Given the description of an element on the screen output the (x, y) to click on. 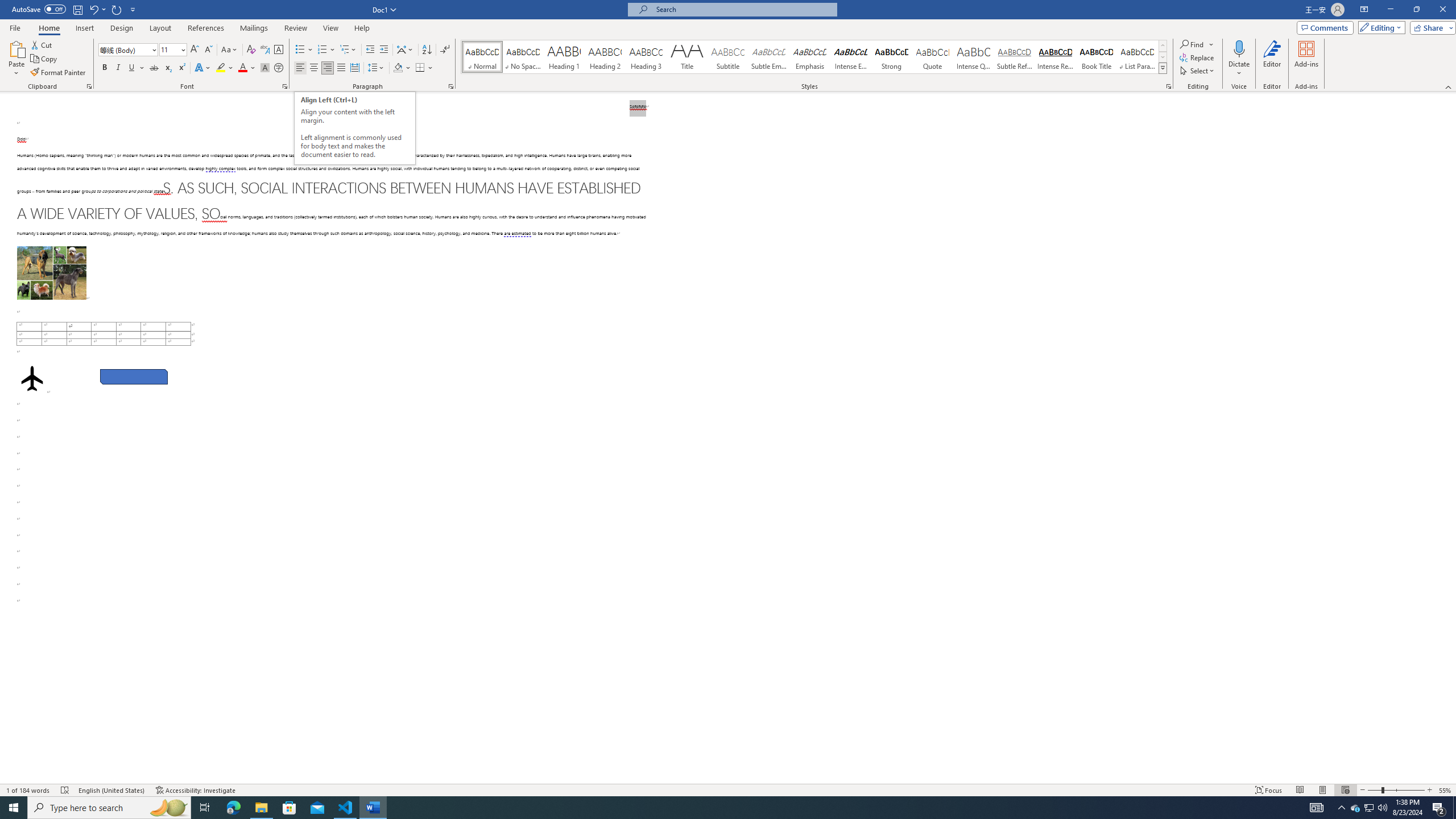
Subtle Emphasis (768, 56)
